Given the description of an element on the screen output the (x, y) to click on. 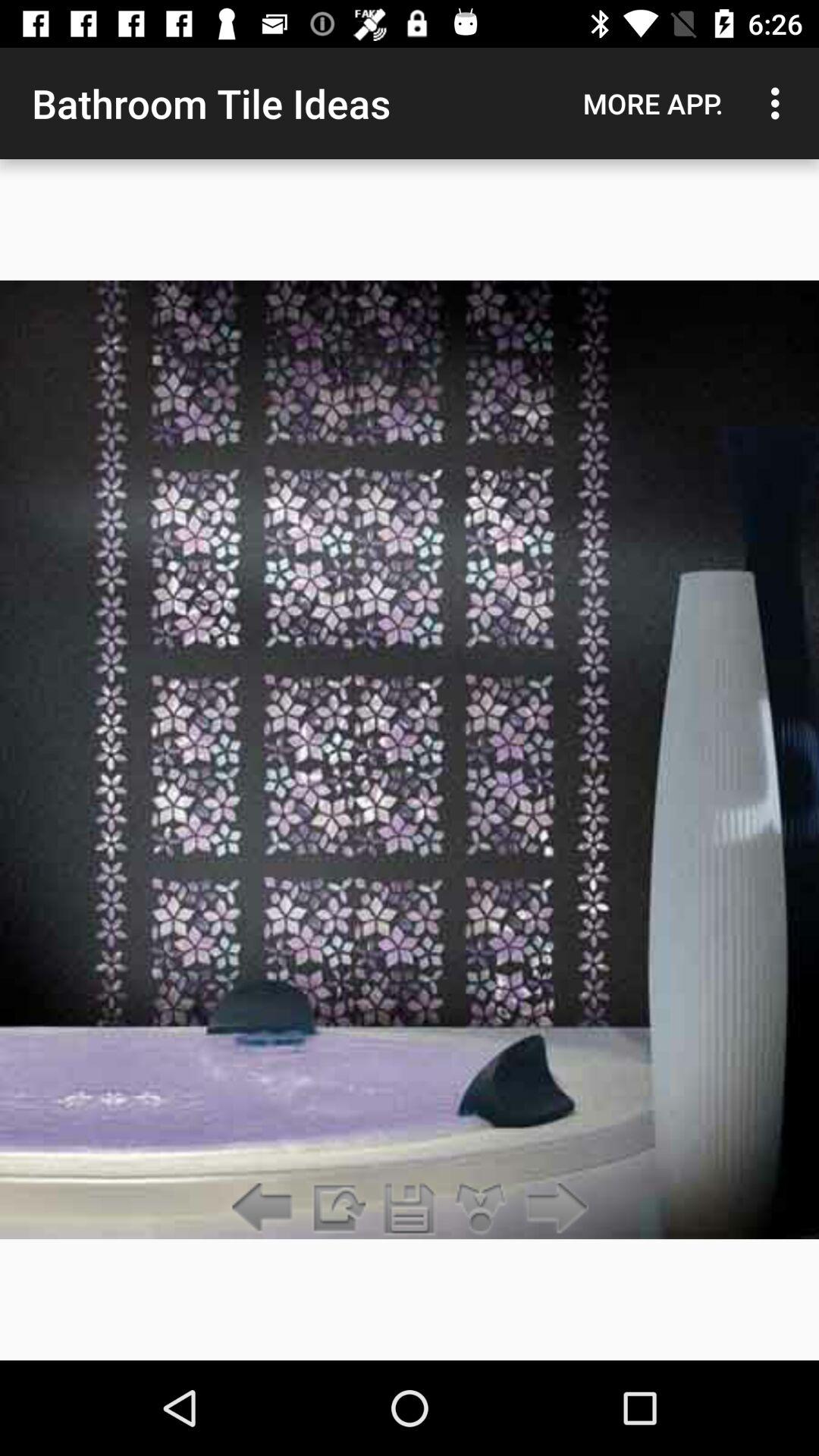
select item below more app. item (552, 1209)
